Given the description of an element on the screen output the (x, y) to click on. 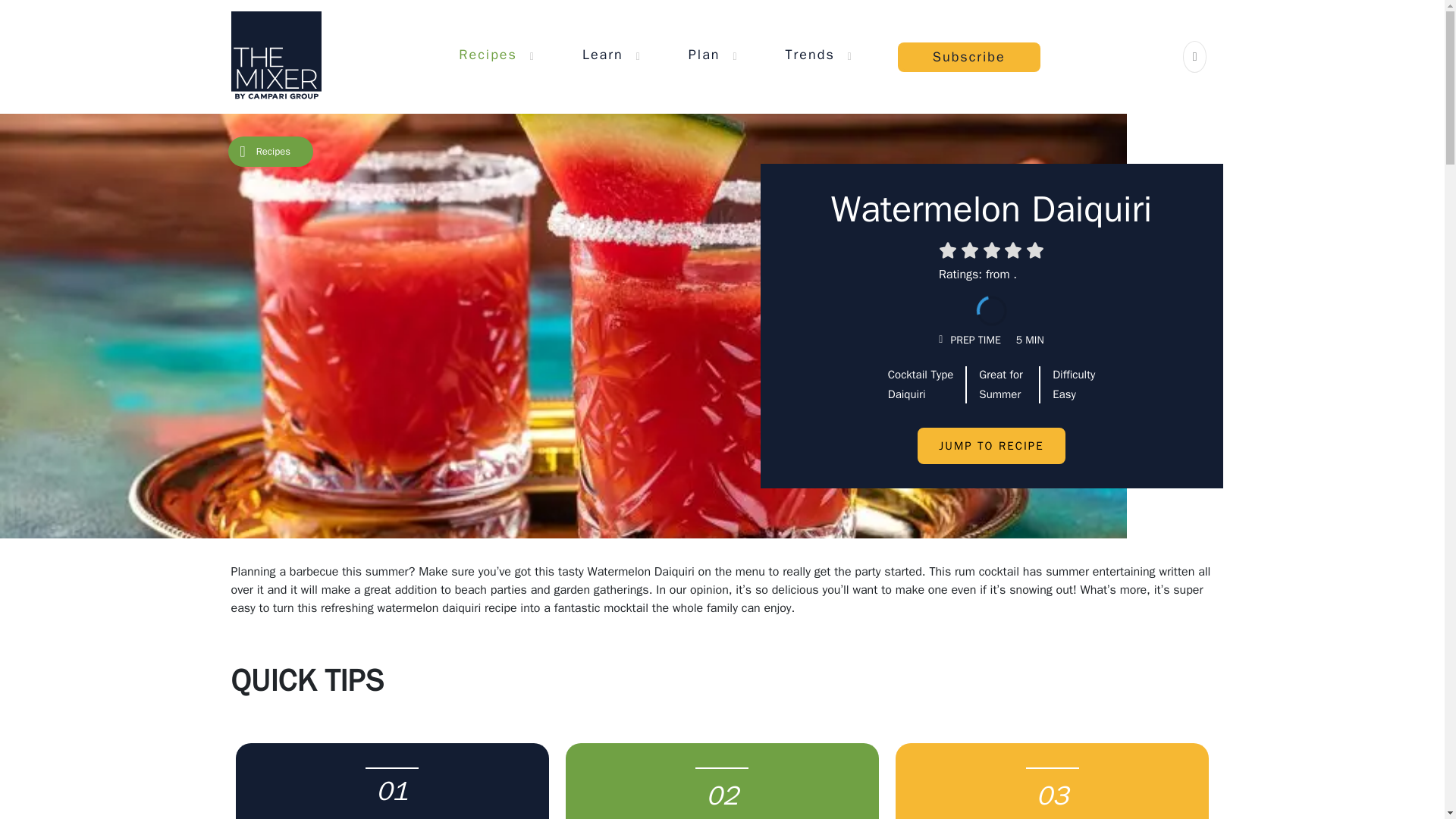
The Mixer (275, 56)
The Mixer (275, 56)
Learn (602, 53)
Trends (809, 53)
Plan (704, 53)
Recipes (487, 53)
Search Opener (1195, 56)
